Given the description of an element on the screen output the (x, y) to click on. 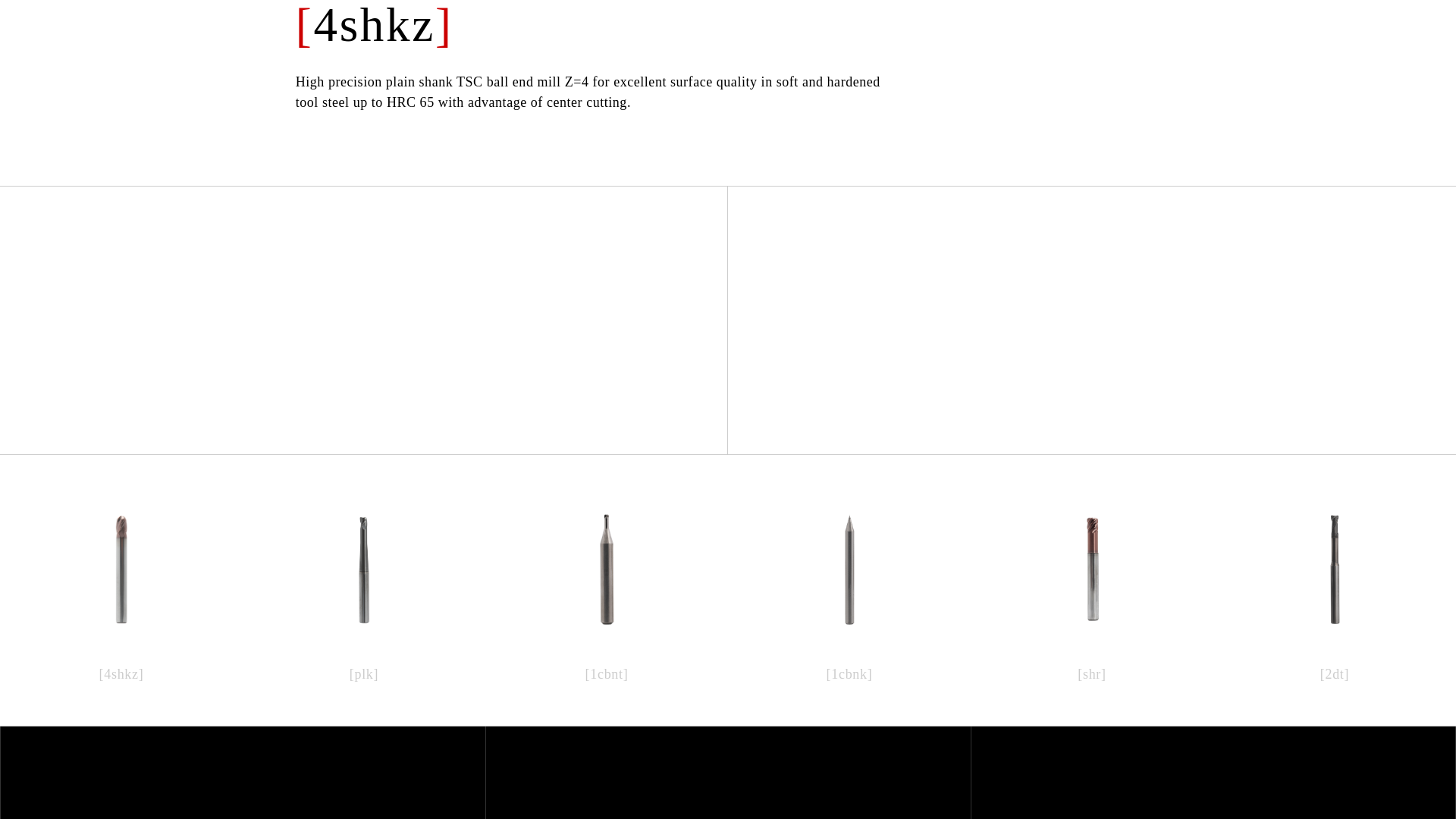
4shkz (373, 25)
